Given the description of an element on the screen output the (x, y) to click on. 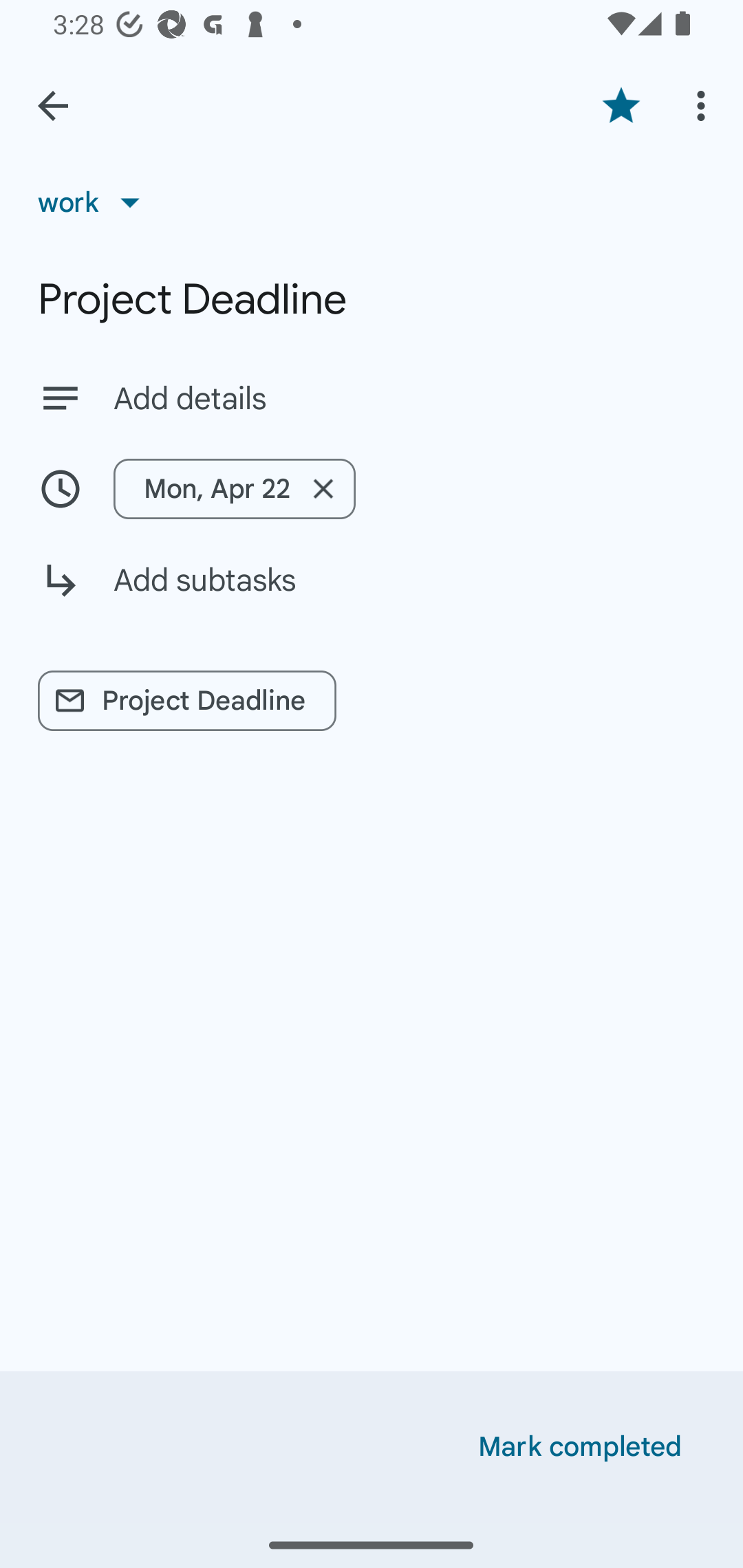
Back (53, 105)
Remove star (620, 105)
More options (704, 105)
work List, work selected, 1 of 4 (95, 202)
Project Deadline (371, 299)
Add details (371, 397)
Add details (409, 397)
Mon, Apr 22 Remove date/time (371, 488)
Mon, Apr 22 Remove date/time (234, 488)
Add subtasks (371, 594)
Project Deadline Related link (186, 700)
Mark completed (580, 1446)
